Given the description of an element on the screen output the (x, y) to click on. 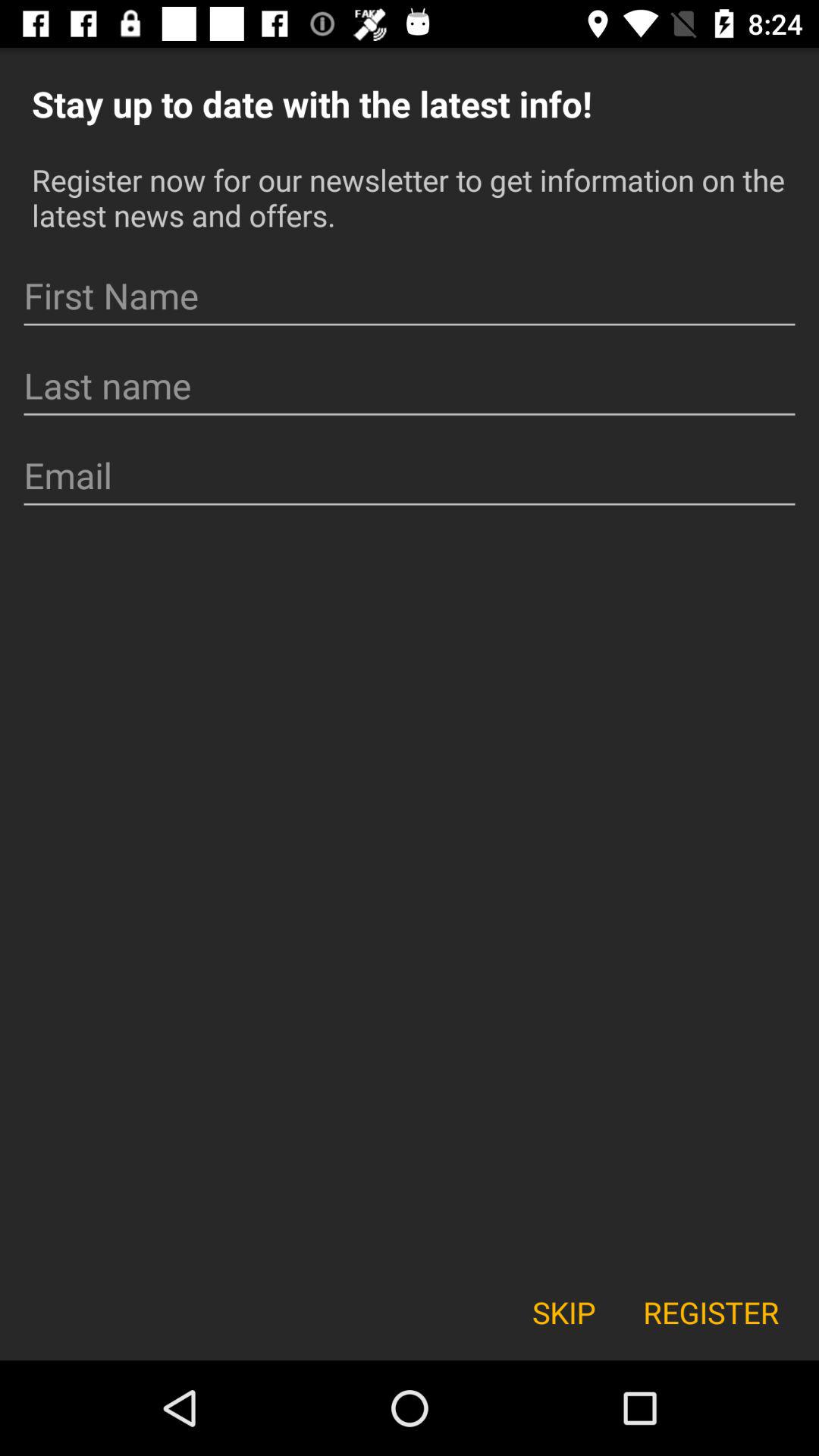
fill last name (409, 386)
